Given the description of an element on the screen output the (x, y) to click on. 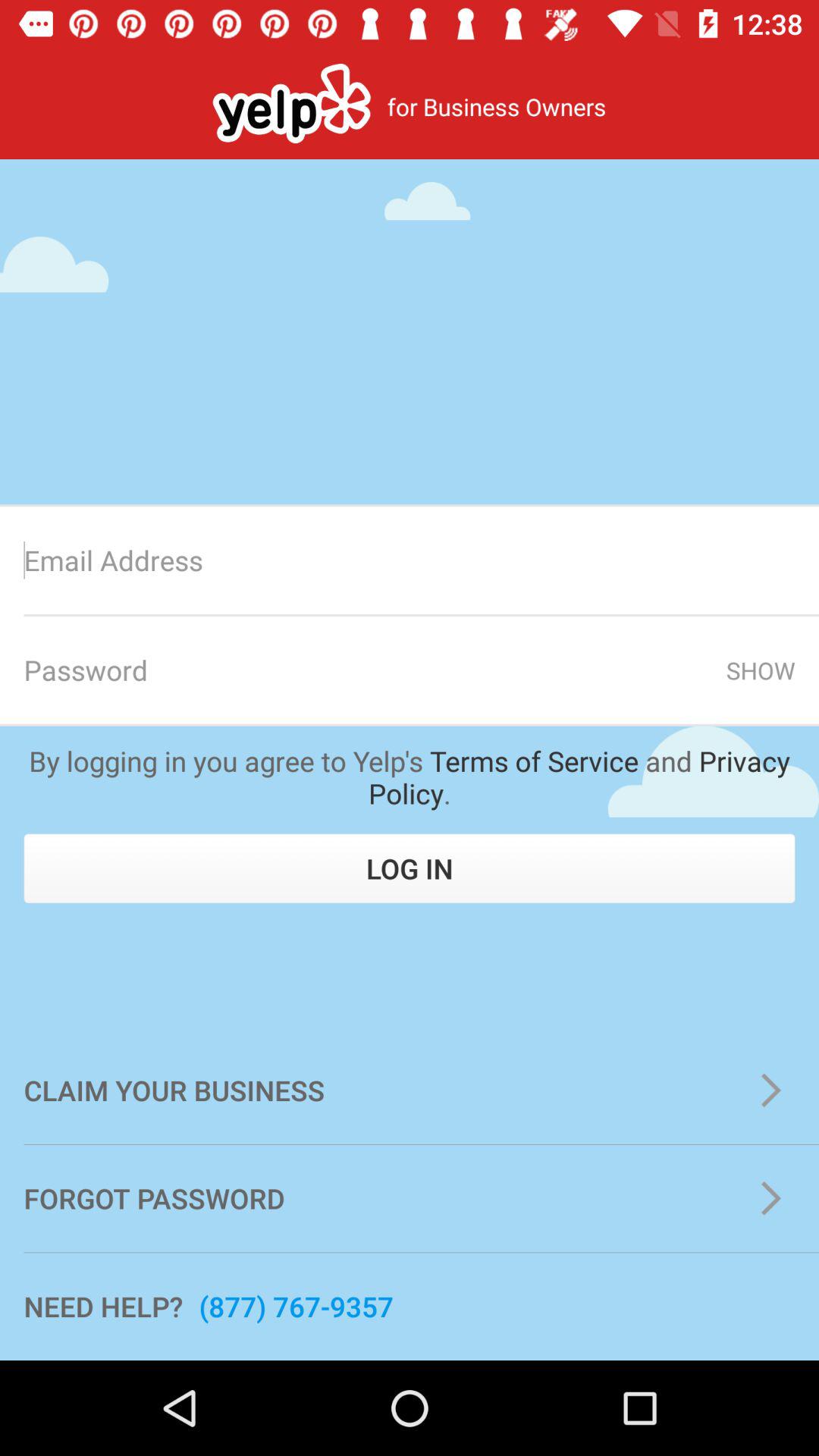
open the forgot password item (409, 1198)
